Given the description of an element on the screen output the (x, y) to click on. 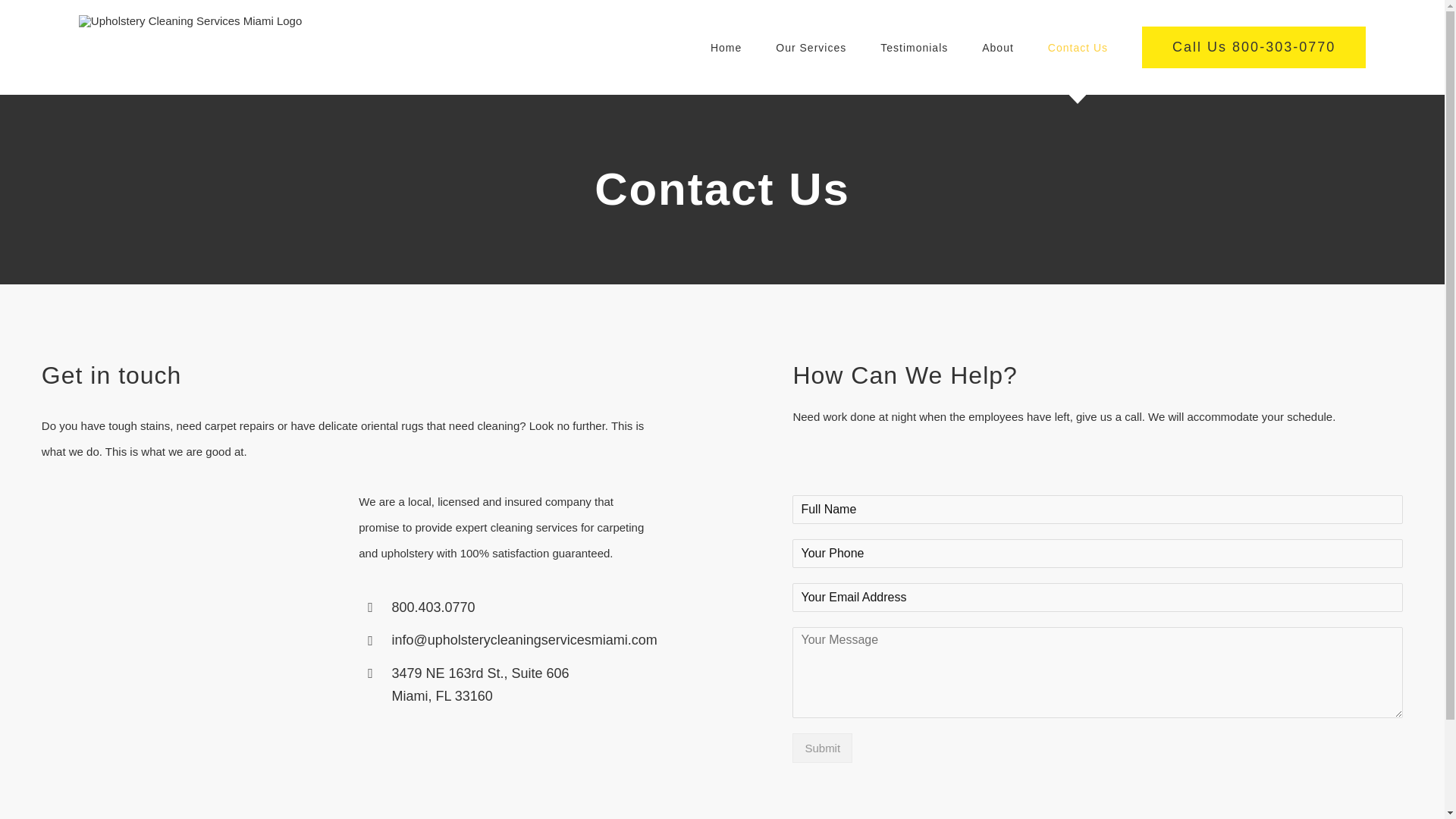
Call Us 800-303-0770 (1253, 47)
